Given the description of an element on the screen output the (x, y) to click on. 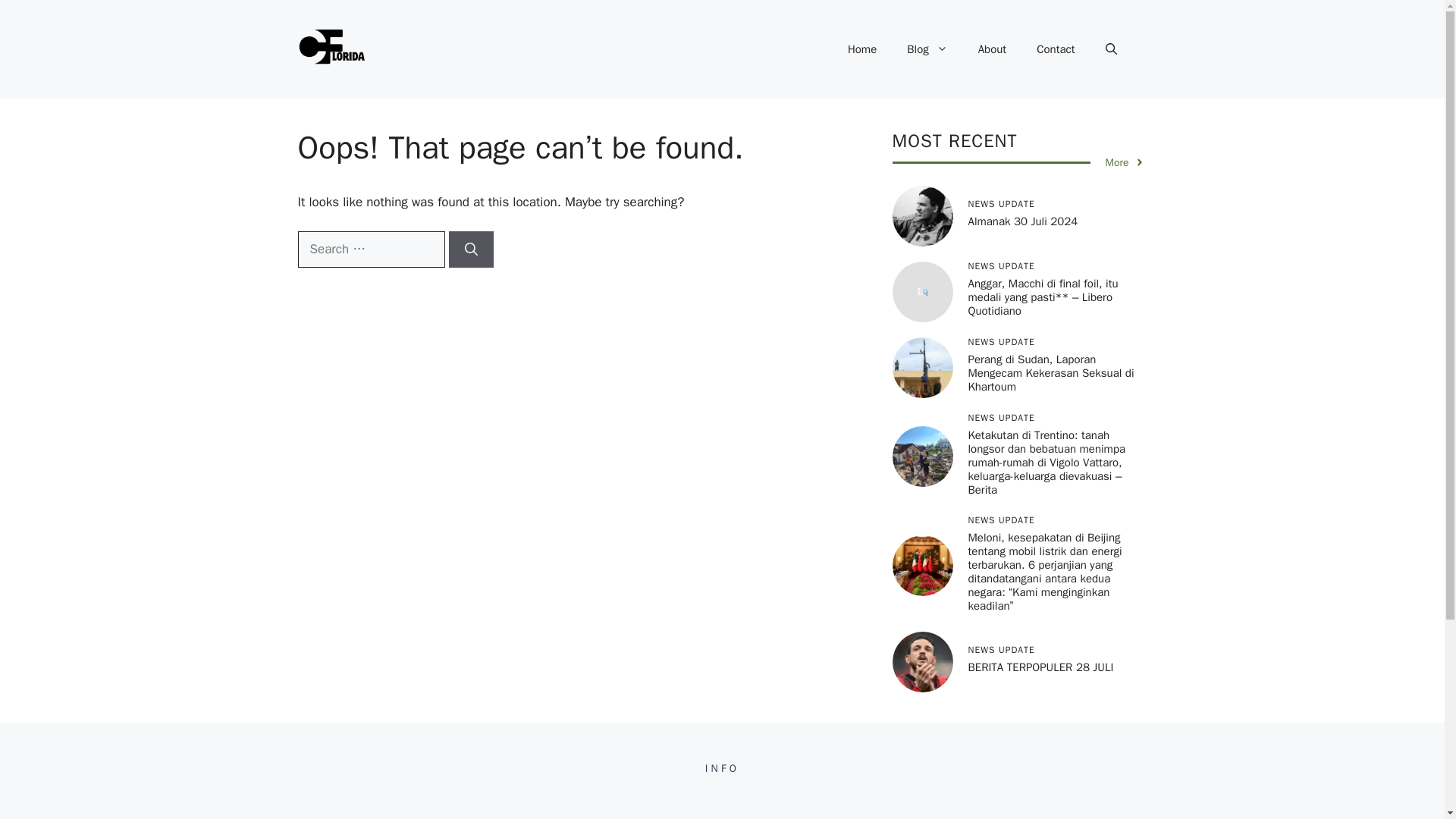
Blog (926, 49)
BERITA TERPOPULER 28 JULI (1040, 667)
More (1124, 162)
Home (861, 49)
About (992, 49)
Search for: (370, 248)
Contact (1055, 49)
Almanak 30 Juli 2024 (1022, 221)
